Given the description of an element on the screen output the (x, y) to click on. 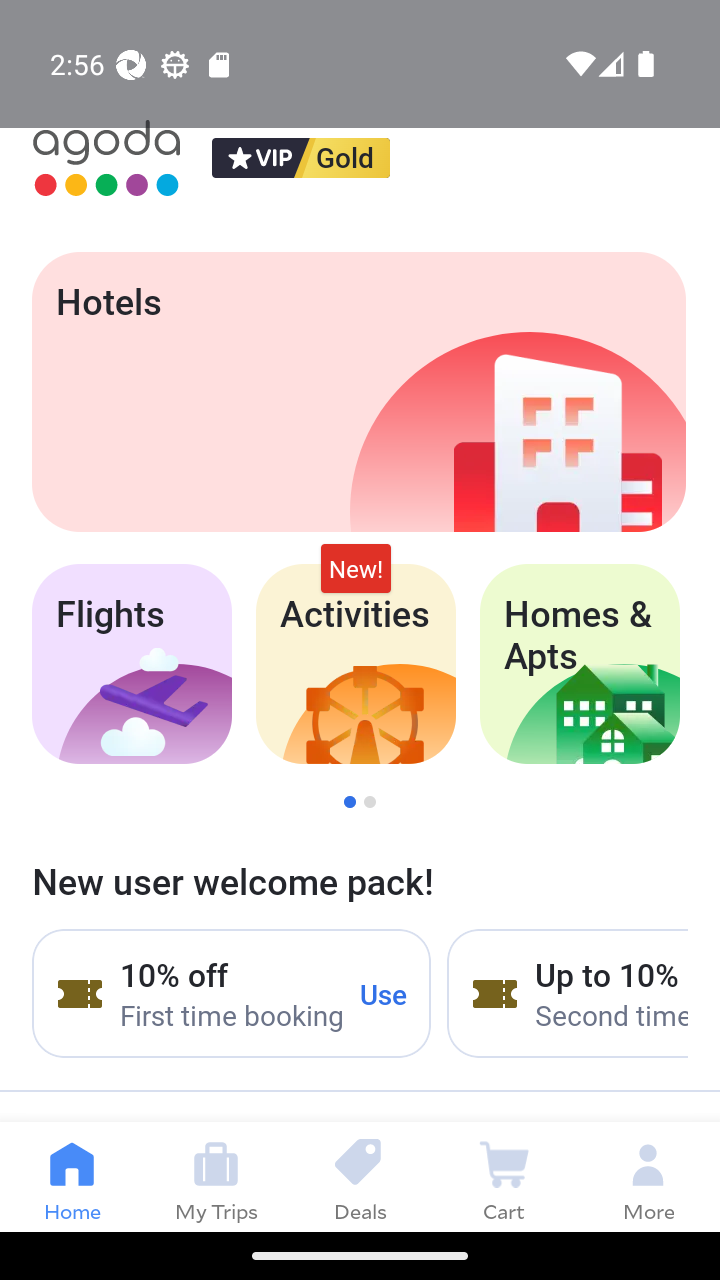
Hotels (358, 392)
New! (355, 568)
Flights (131, 664)
Activities (355, 664)
Homes & Apts (579, 664)
Use (384, 993)
Home (72, 1176)
My Trips (216, 1176)
Deals (360, 1176)
Cart (504, 1176)
More (648, 1176)
